Given the description of an element on the screen output the (x, y) to click on. 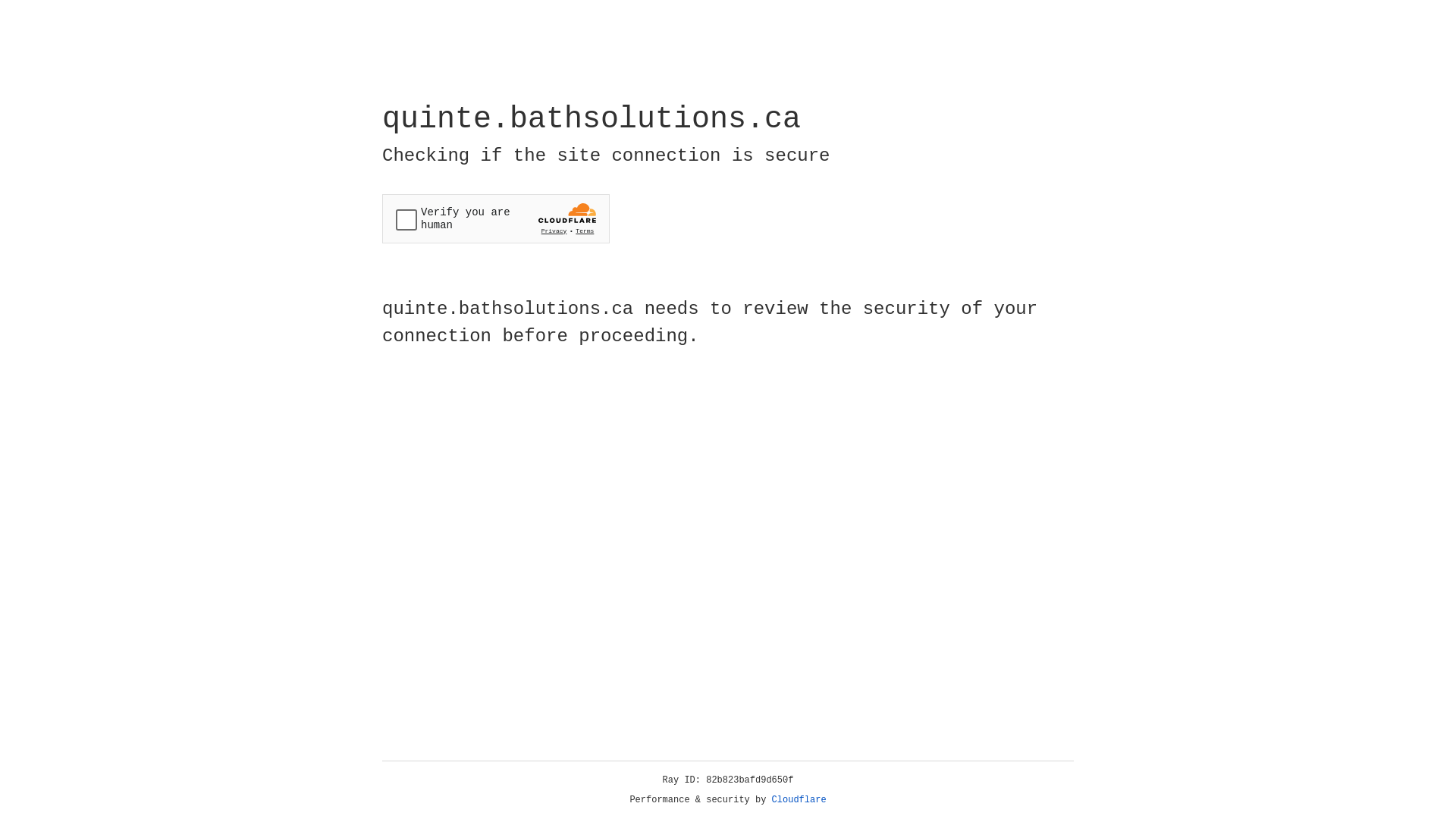
Widget containing a Cloudflare security challenge Element type: hover (495, 218)
Cloudflare Element type: text (798, 799)
